Given the description of an element on the screen output the (x, y) to click on. 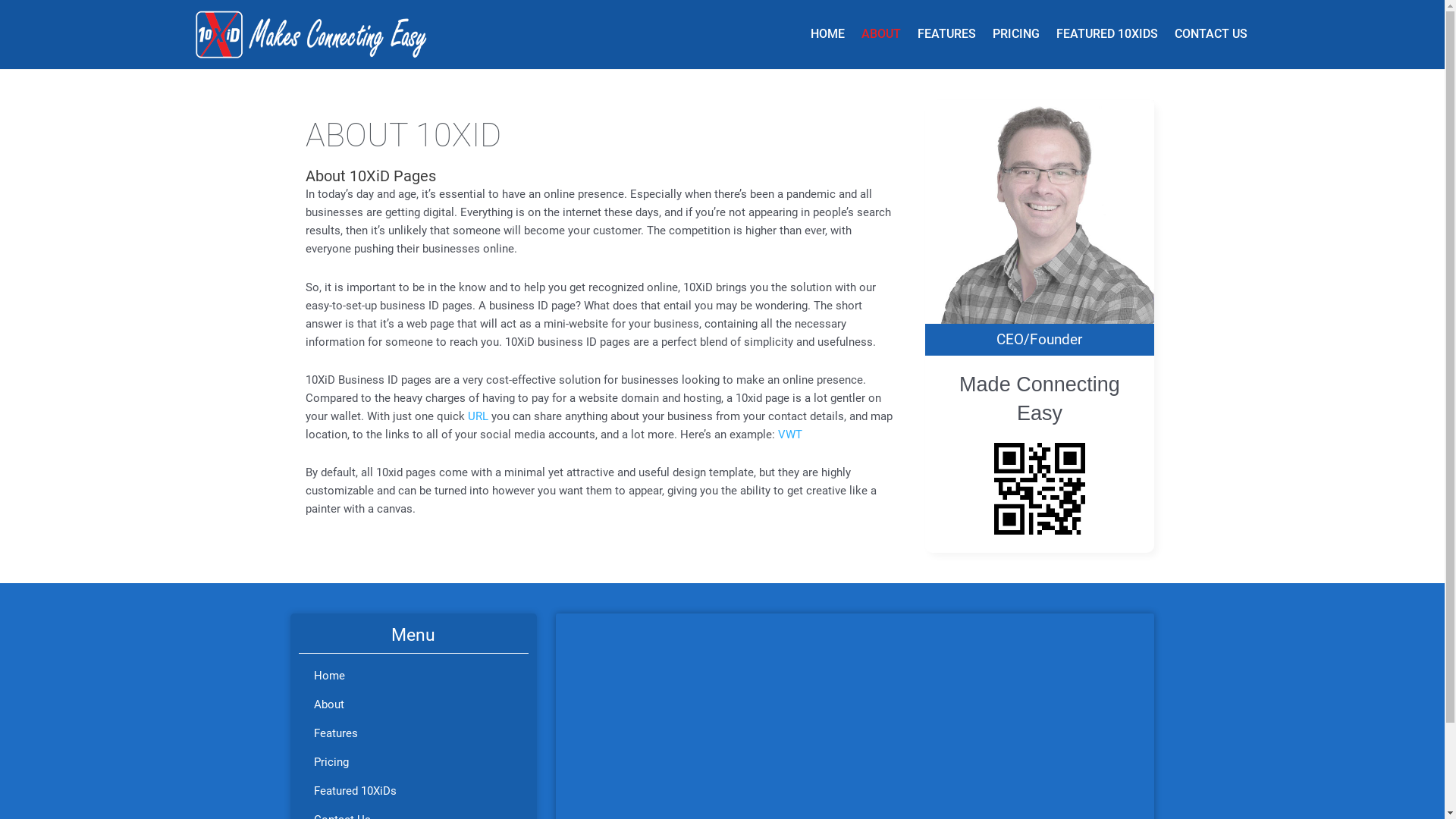
ABOUT Element type: text (880, 33)
Home Element type: text (413, 675)
HOME Element type: text (827, 33)
About Element type: text (413, 704)
CONTACT US Element type: text (1210, 33)
FEATURES Element type: text (945, 33)
PRICING Element type: text (1016, 33)
Features Element type: text (413, 732)
VWT Element type: text (790, 434)
FEATURED 10XIDS Element type: text (1107, 33)
Featured 10XiDs Element type: text (413, 790)
Pricing Element type: text (413, 761)
URL Element type: text (477, 416)
